Given the description of an element on the screen output the (x, y) to click on. 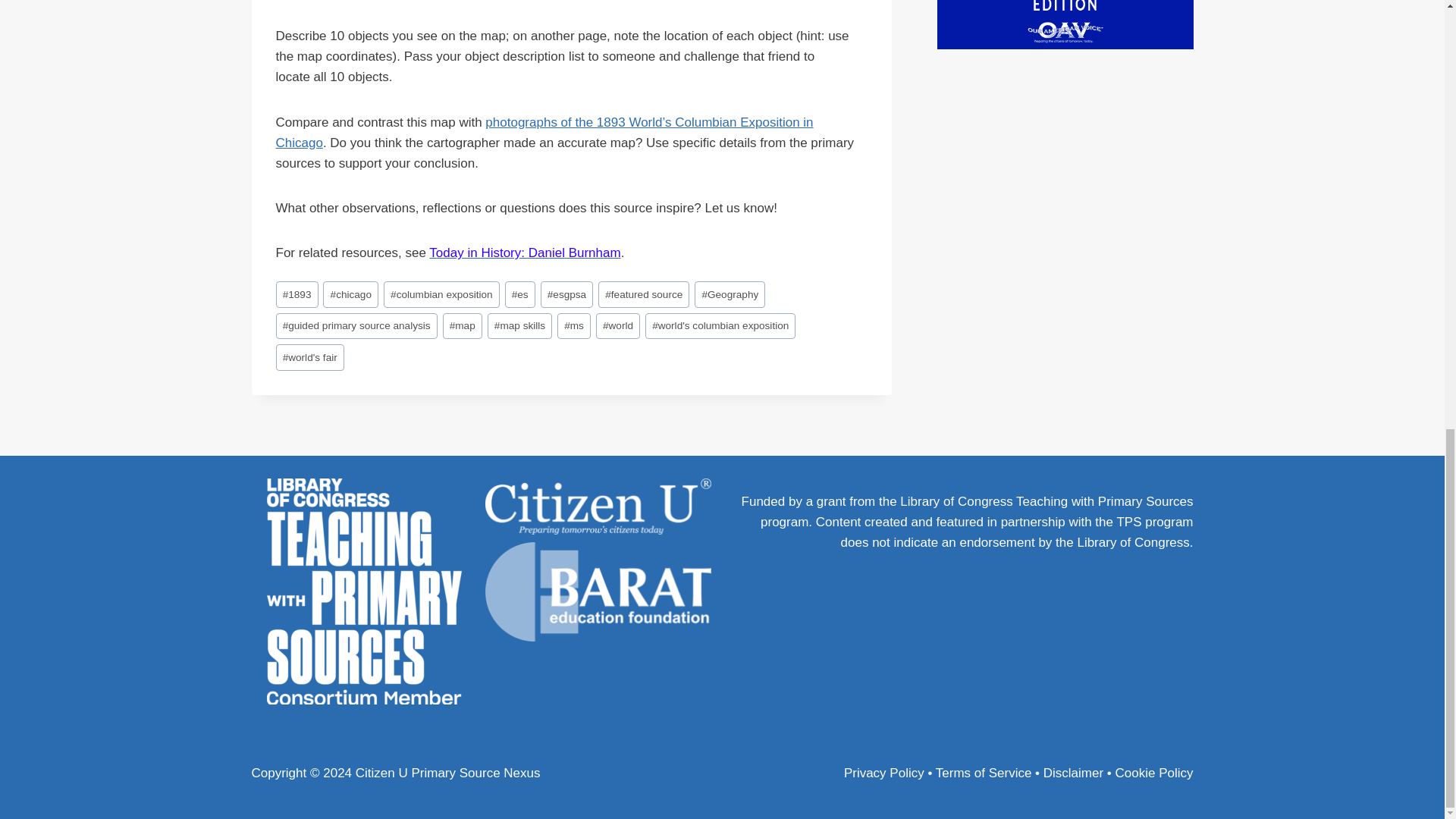
guided primary source analysis (357, 325)
esgpsa (567, 294)
featured source (643, 294)
map (461, 325)
chicago (350, 294)
es (520, 294)
ms (574, 325)
map skills (520, 325)
1893 (297, 294)
Geography (729, 294)
